Given the description of an element on the screen output the (x, y) to click on. 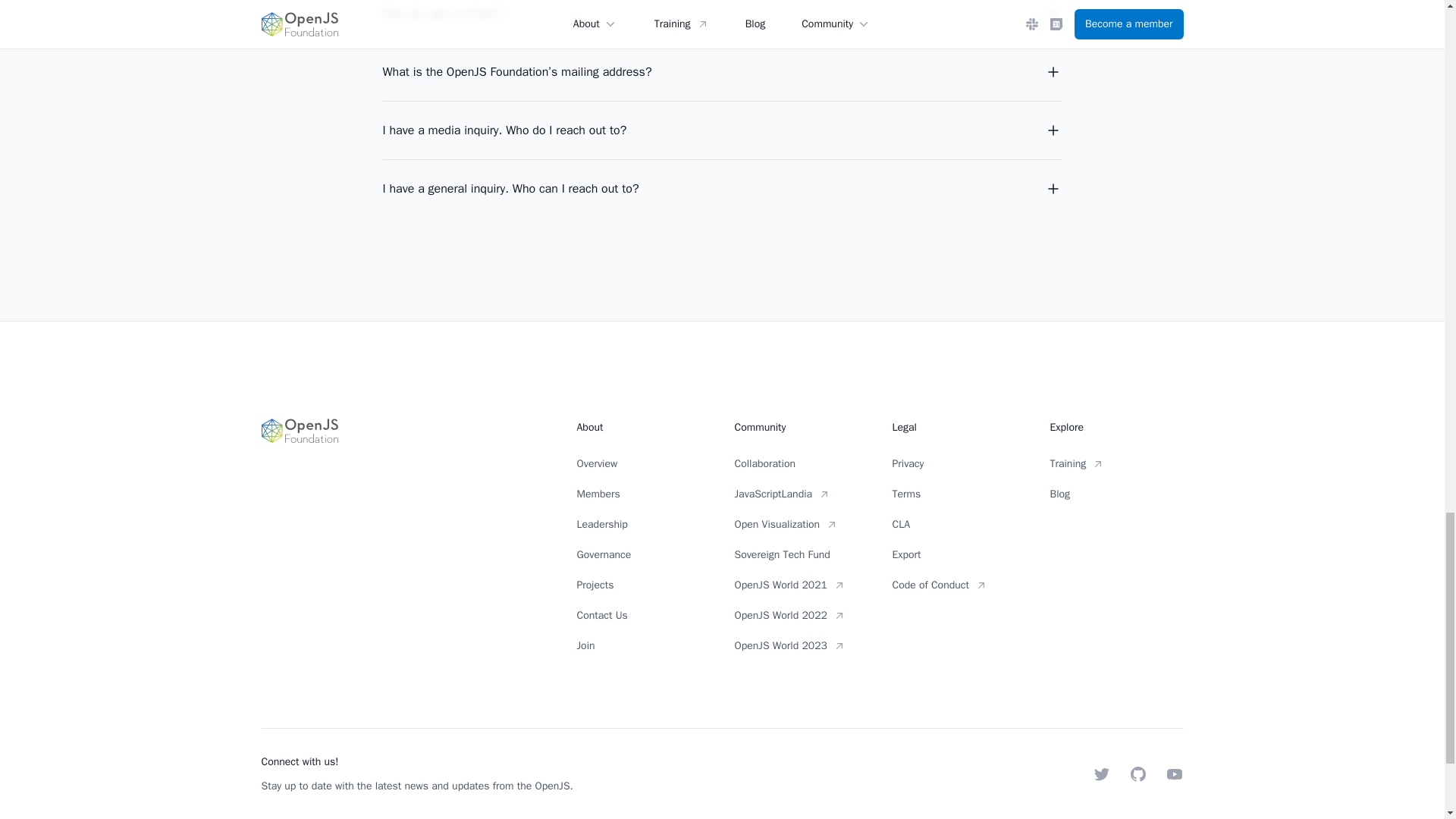
Overview (643, 464)
Contact Us (643, 615)
How do I get involved? (721, 13)
JavaScriptLandia (800, 494)
Projects (643, 585)
I have a media inquiry. Who do I reach out to? (721, 129)
Sovereign Tech Fund (800, 555)
I have a general inquiry. Who can I reach out to? (721, 188)
Collaboration (800, 464)
Open Visualization (800, 524)
